Given the description of an element on the screen output the (x, y) to click on. 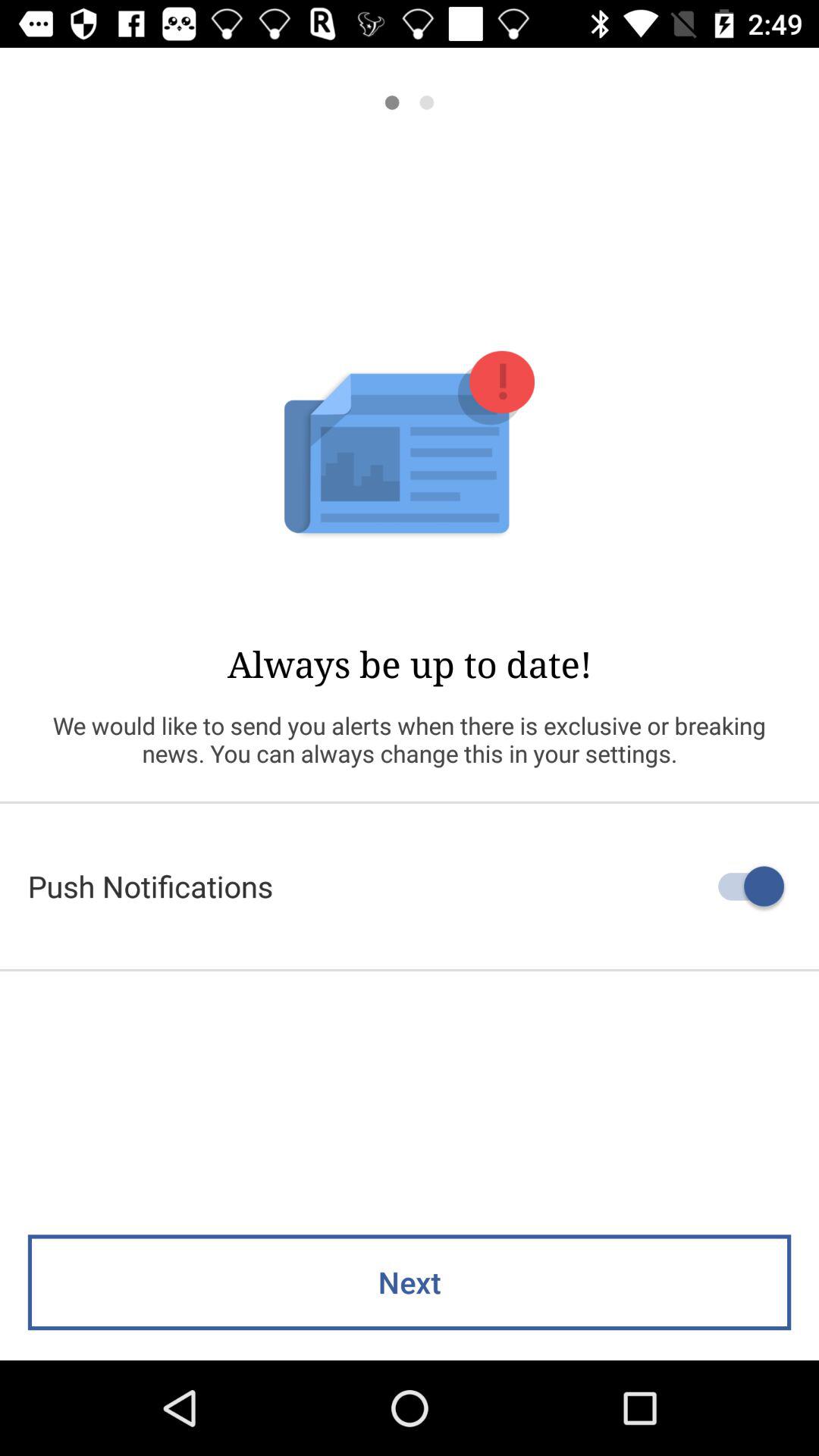
tap push notifications icon (409, 886)
